Given the description of an element on the screen output the (x, y) to click on. 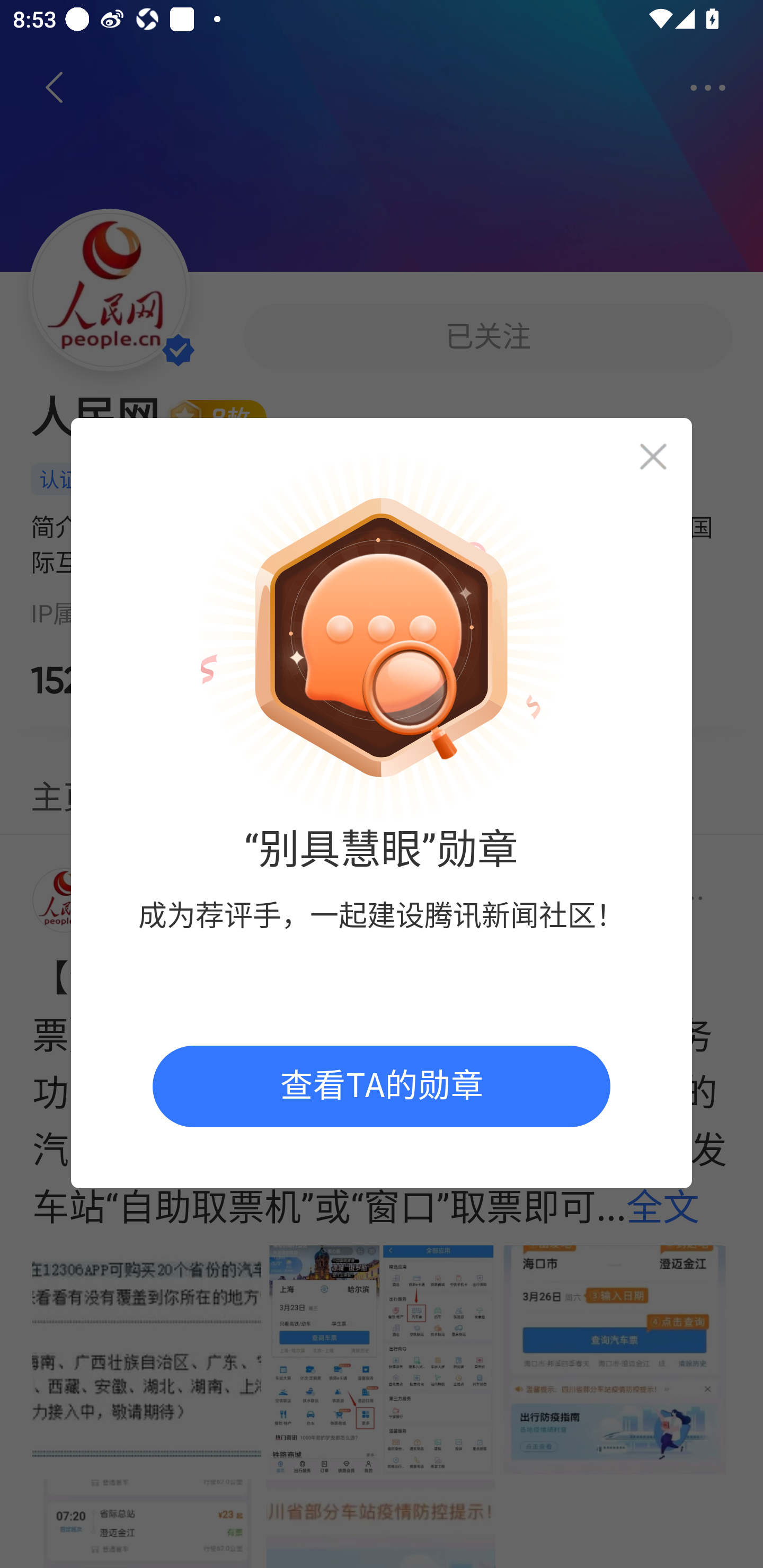
查看TA的勋章 (381, 1086)
